Given the description of an element on the screen output the (x, y) to click on. 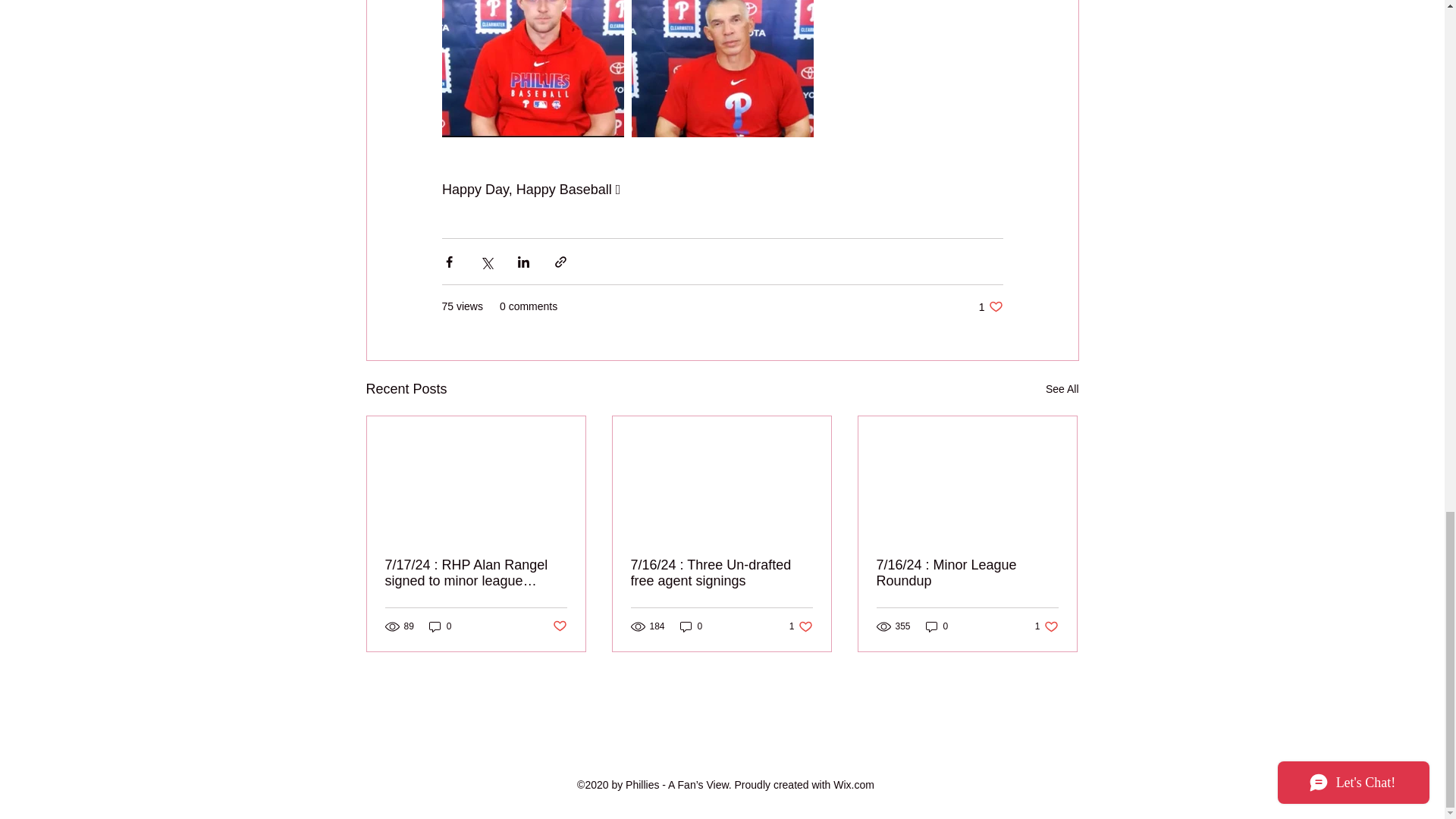
0 (937, 626)
0 (800, 626)
See All (440, 626)
Post not marked as liked (1061, 389)
0 (558, 626)
